Given the description of an element on the screen output the (x, y) to click on. 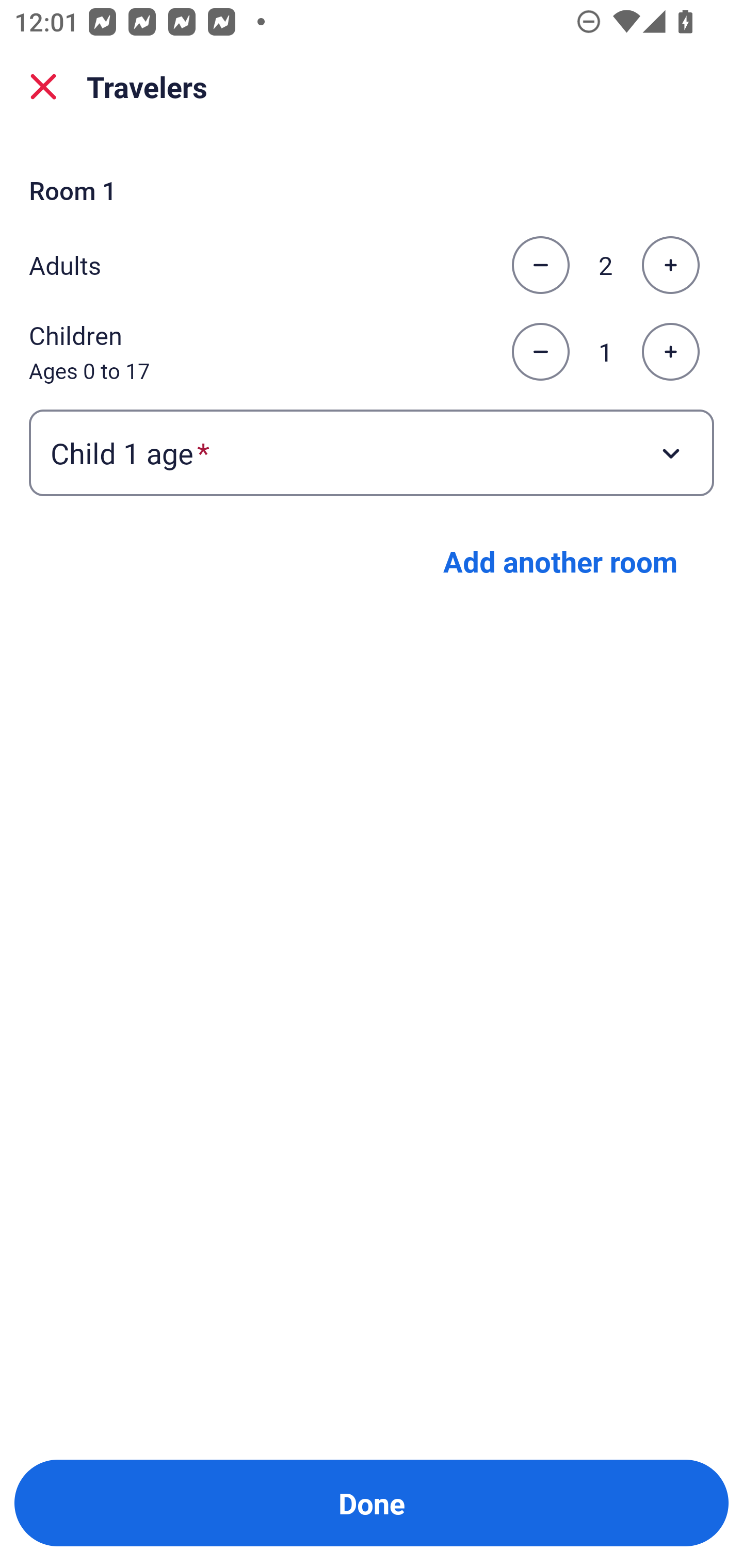
close (43, 86)
Decrease the number of adults (540, 264)
Increase the number of adults (670, 264)
Decrease the number of children (540, 351)
Increase the number of children (670, 351)
Child 1 age required Button (371, 452)
Add another room (560, 561)
Done (371, 1502)
